Given the description of an element on the screen output the (x, y) to click on. 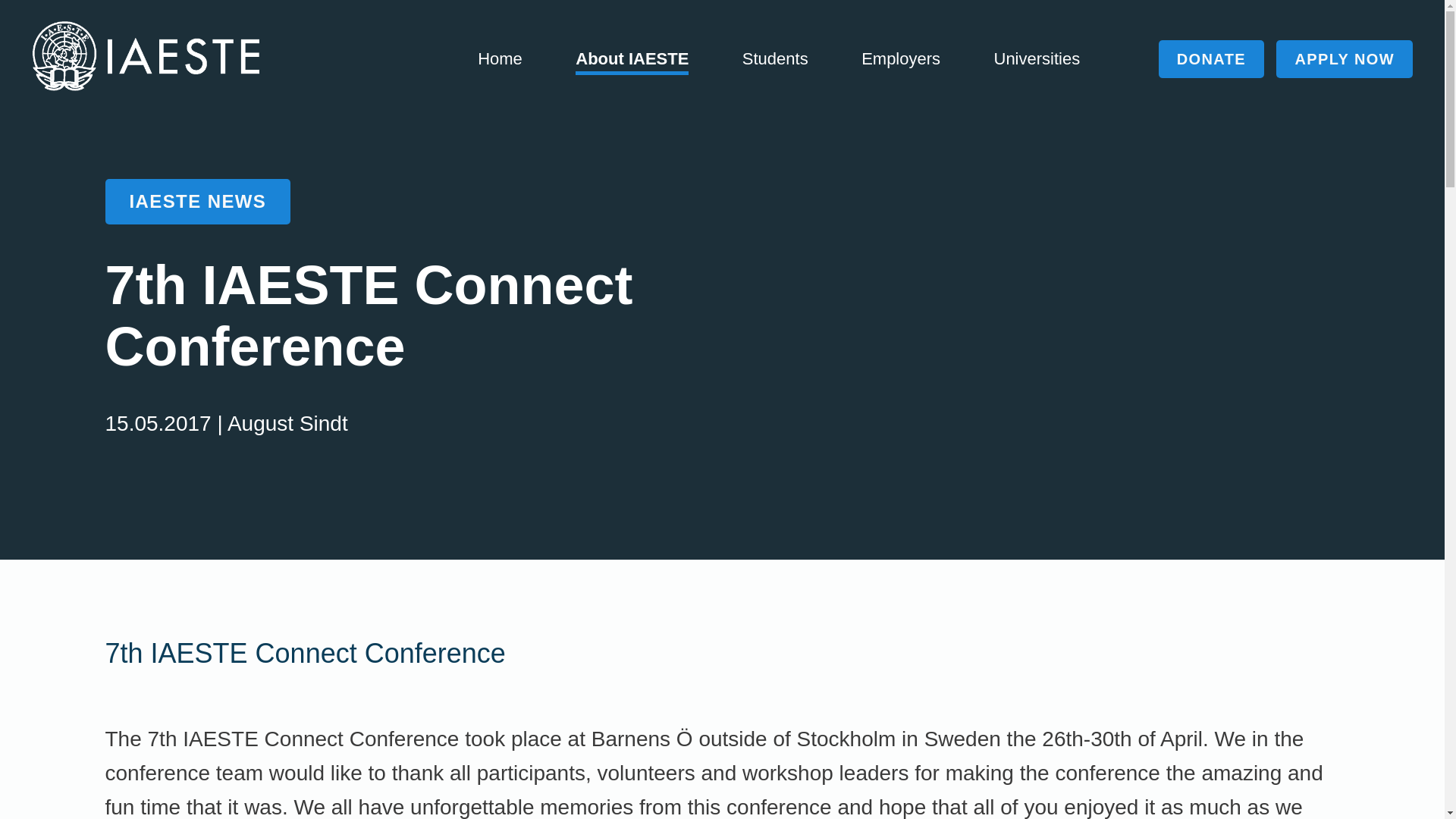
About IAESTE (631, 60)
DONATE (1210, 58)
Universities (1036, 58)
Home (499, 58)
APPLY NOW (1344, 58)
Students (775, 58)
Employers (900, 58)
